Given the description of an element on the screen output the (x, y) to click on. 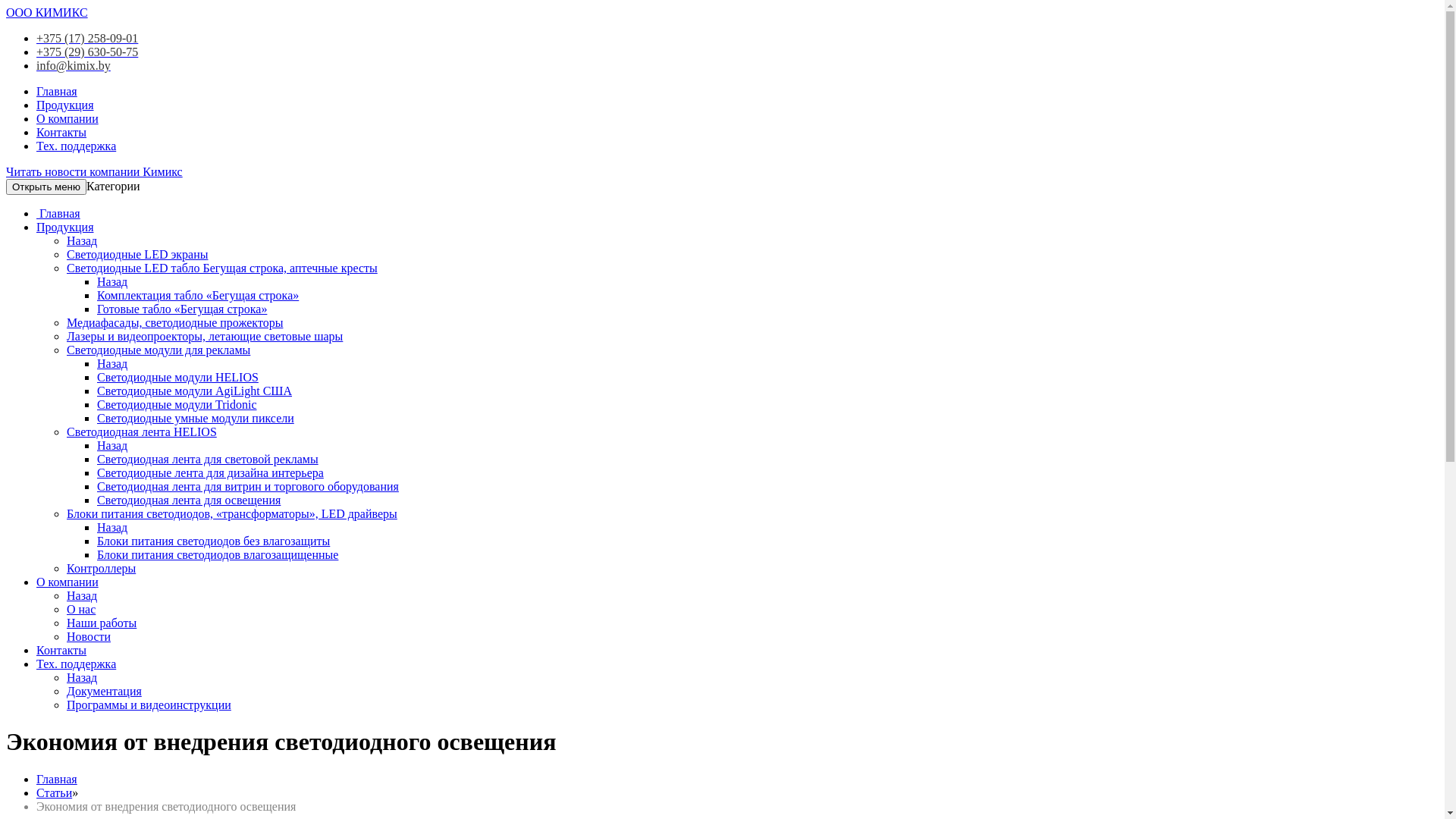
+375 (29) 630-50-75 Element type: text (87, 51)
+375 (17) 258-09-01 Element type: text (87, 37)
info@kimix.by Element type: text (73, 65)
